Given the description of an element on the screen output the (x, y) to click on. 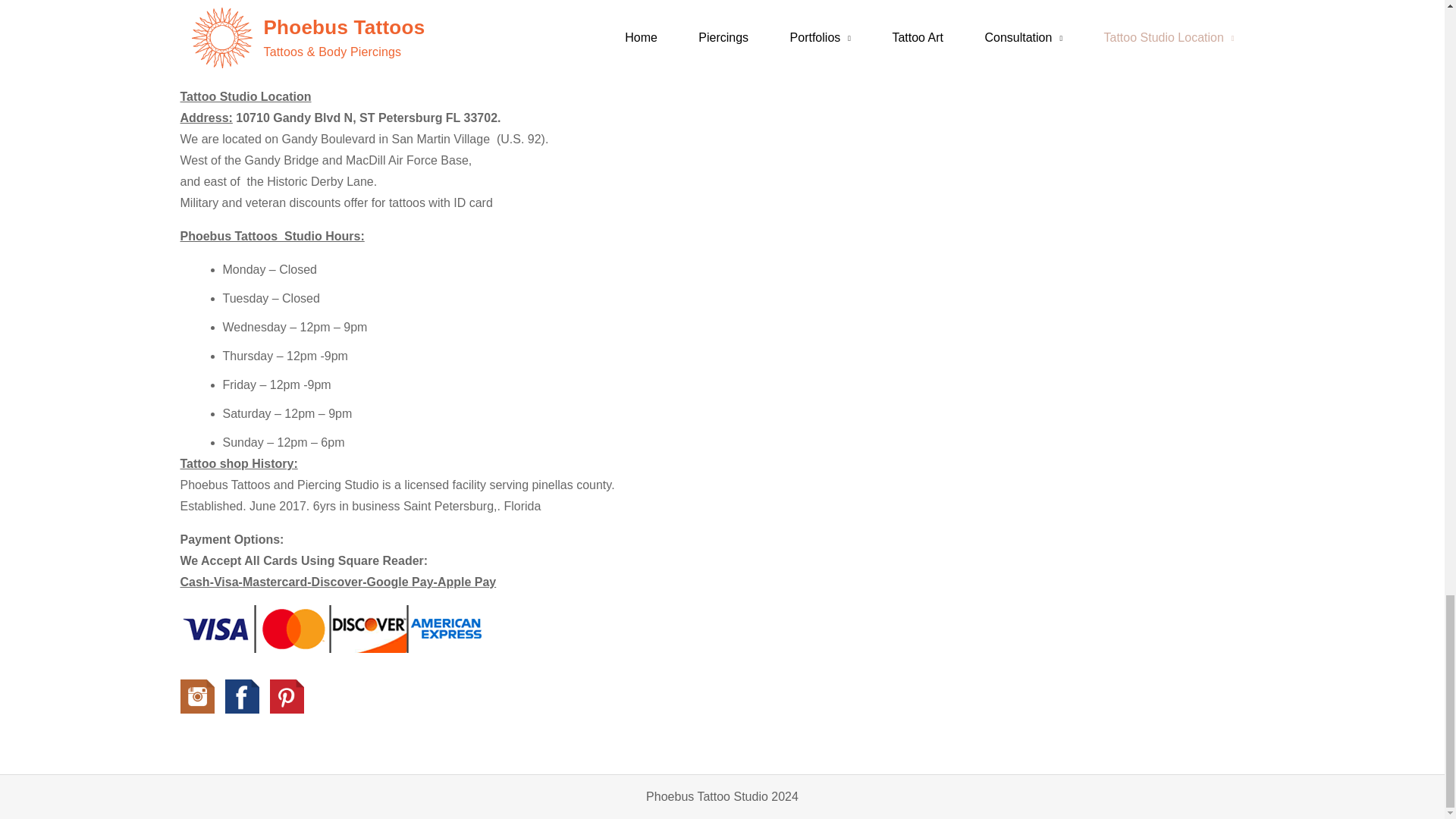
727-666-1329 (366, 32)
